Given the description of an element on the screen output the (x, y) to click on. 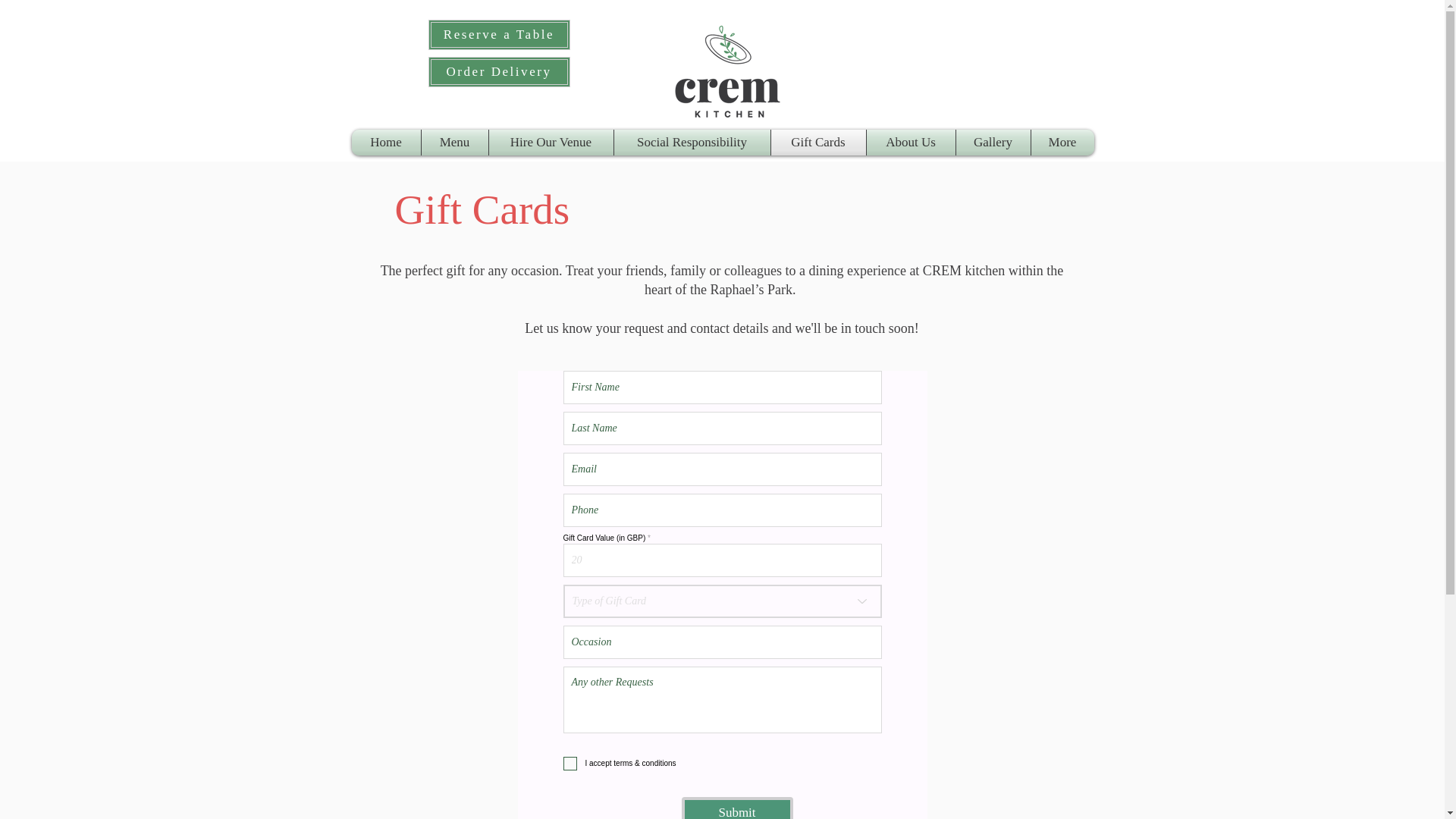
Menu (454, 142)
Gallery (992, 142)
About Us (910, 142)
20 (721, 560)
Home (386, 142)
Reserve a Table (498, 34)
Order Delivery (498, 71)
Social Responsibility (692, 142)
Gift Cards (817, 142)
Submit (736, 807)
Hire Our Venue (549, 142)
